Given the description of an element on the screen output the (x, y) to click on. 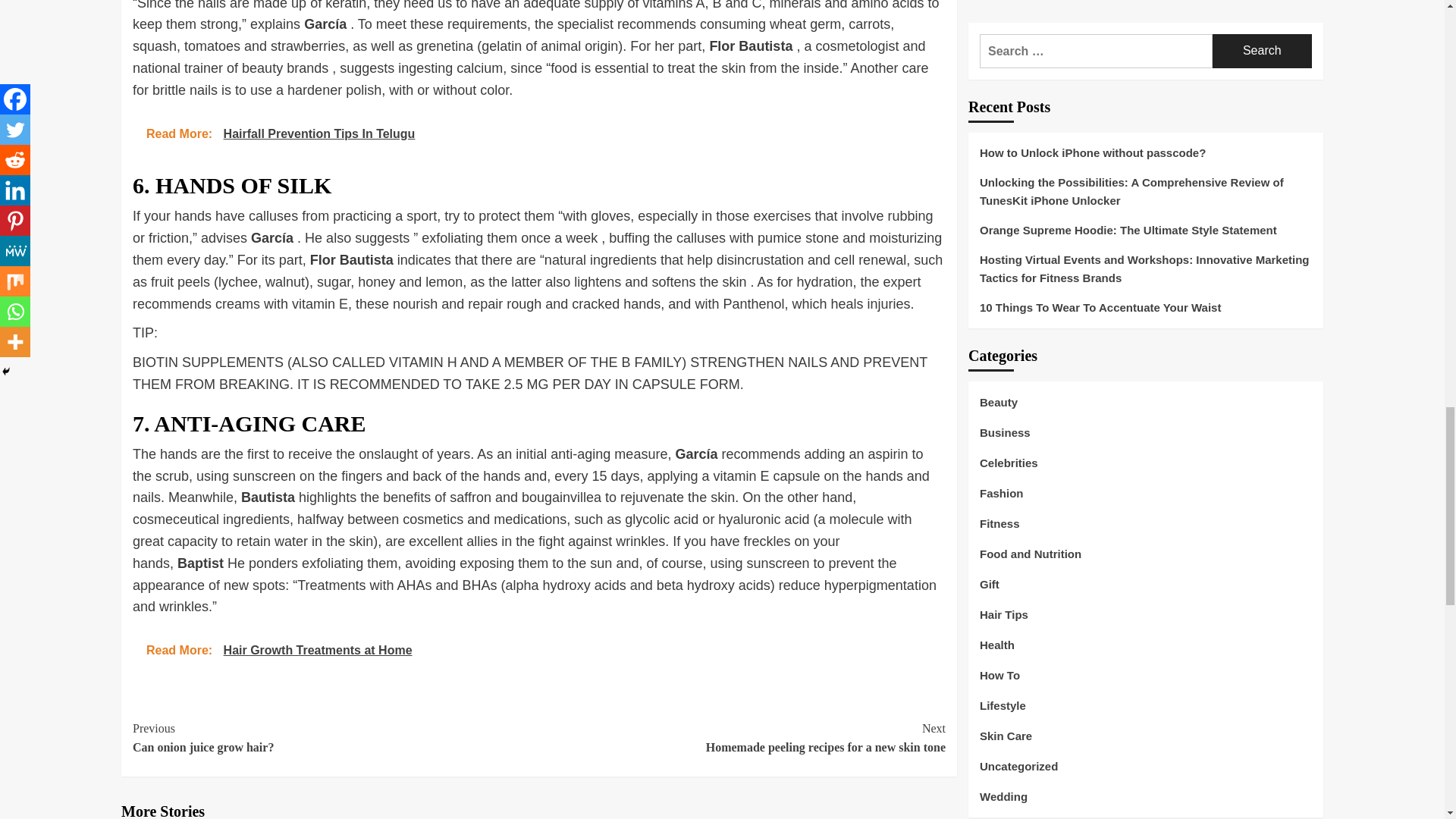
Page 1 (741, 738)
Read More:   Hair Growth Treatments at Home (538, 133)
